Given the description of an element on the screen output the (x, y) to click on. 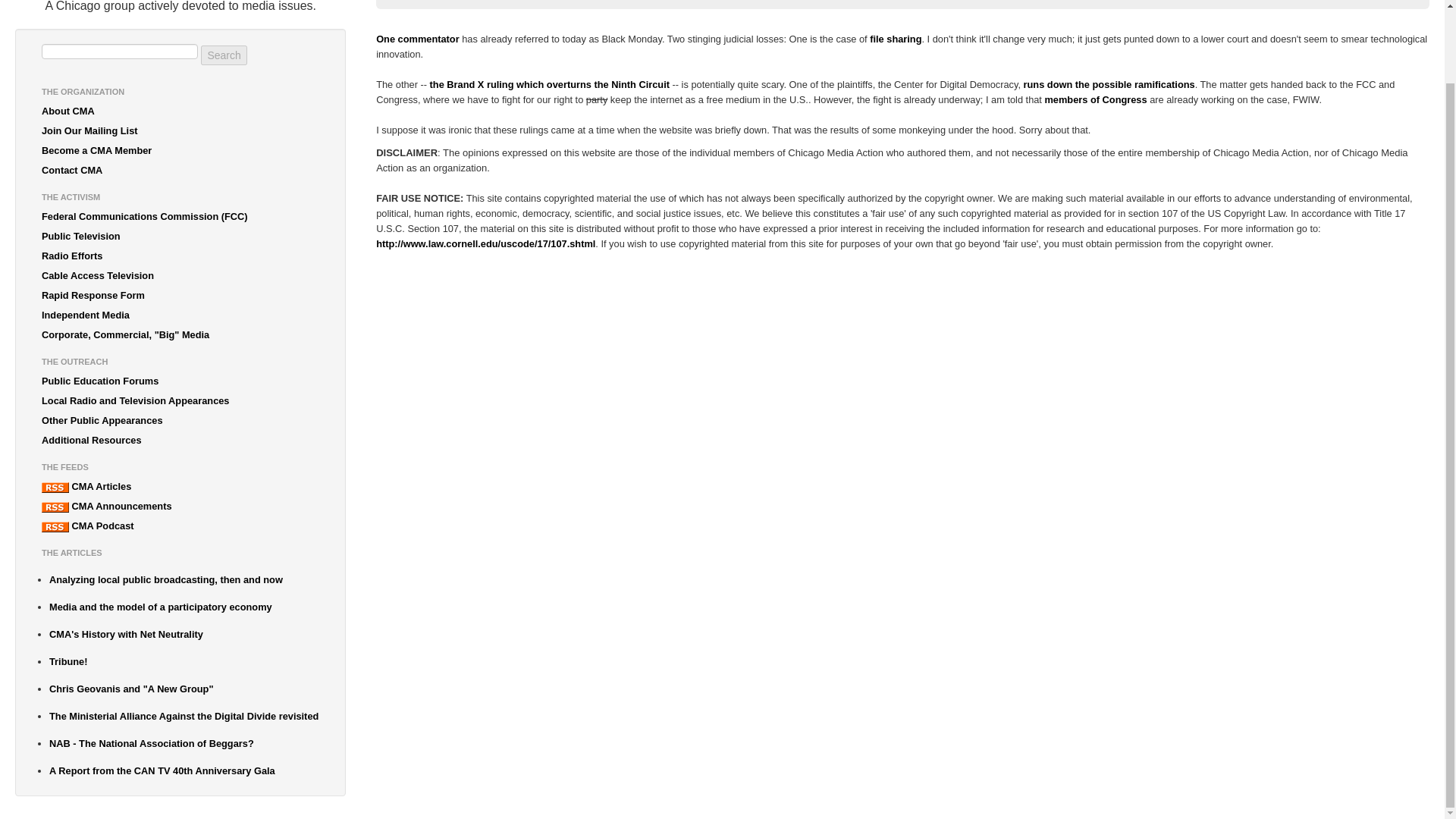
Rapid Response Form (180, 295)
Chris Geovanis and "A New Group" (183, 689)
members of Congress (1095, 99)
Become a CMA Member (180, 150)
Search (223, 55)
CMA Announcements (180, 506)
Contact CMA (180, 170)
One commentator (417, 39)
CMA's History with Net Neutrality (183, 634)
About CMA (180, 111)
the Brand X ruling which overturns the Ninth Circuit (549, 84)
Tribune! (183, 661)
Other Public Appearances (180, 420)
Public Education Forums (180, 381)
Additional Resources (180, 440)
